Given the description of an element on the screen output the (x, y) to click on. 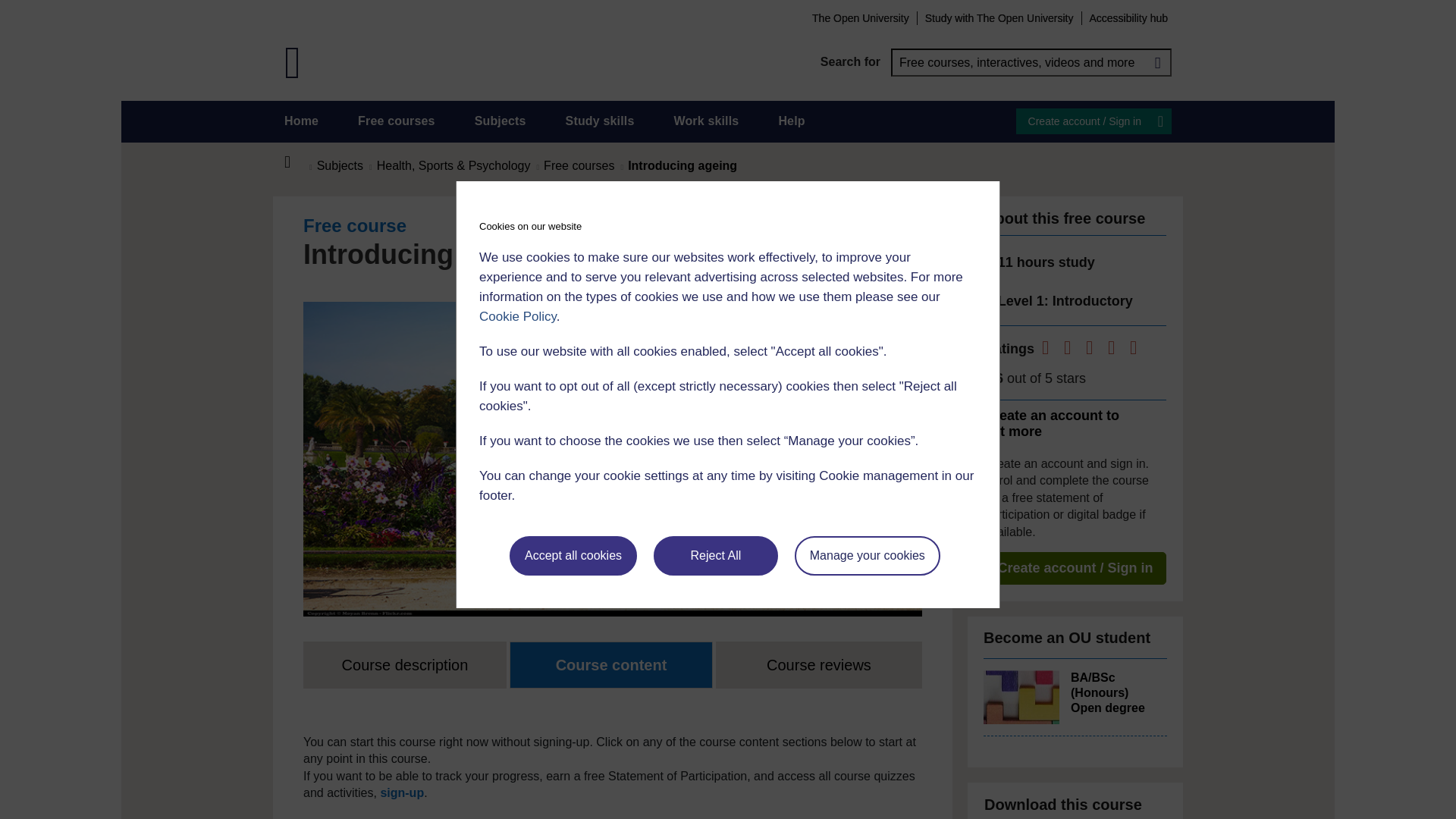
Search (1157, 62)
Accessibility hub (1129, 17)
Reject All (715, 555)
Free courses (396, 120)
Accept all cookies (573, 555)
Study skills (600, 120)
Cookie Policy (517, 316)
Course reviews (818, 664)
Help (791, 120)
Study with The Open University (999, 17)
Subjects (499, 120)
Manage your cookies (867, 555)
The Open University (860, 17)
Home (295, 162)
Course description (404, 664)
